Given the description of an element on the screen output the (x, y) to click on. 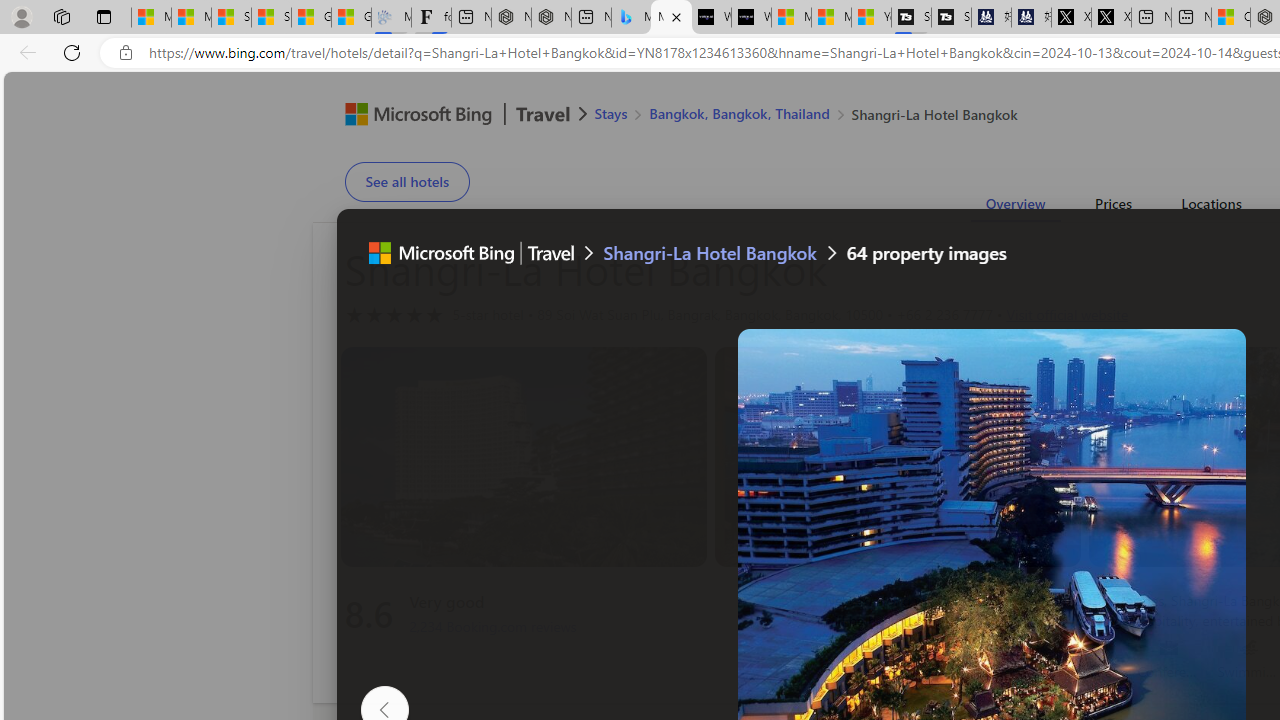
Microsoft Bing Travel - Stays in Bangkok, Bangkok, Thailand (631, 17)
